Given the description of an element on the screen output the (x, y) to click on. 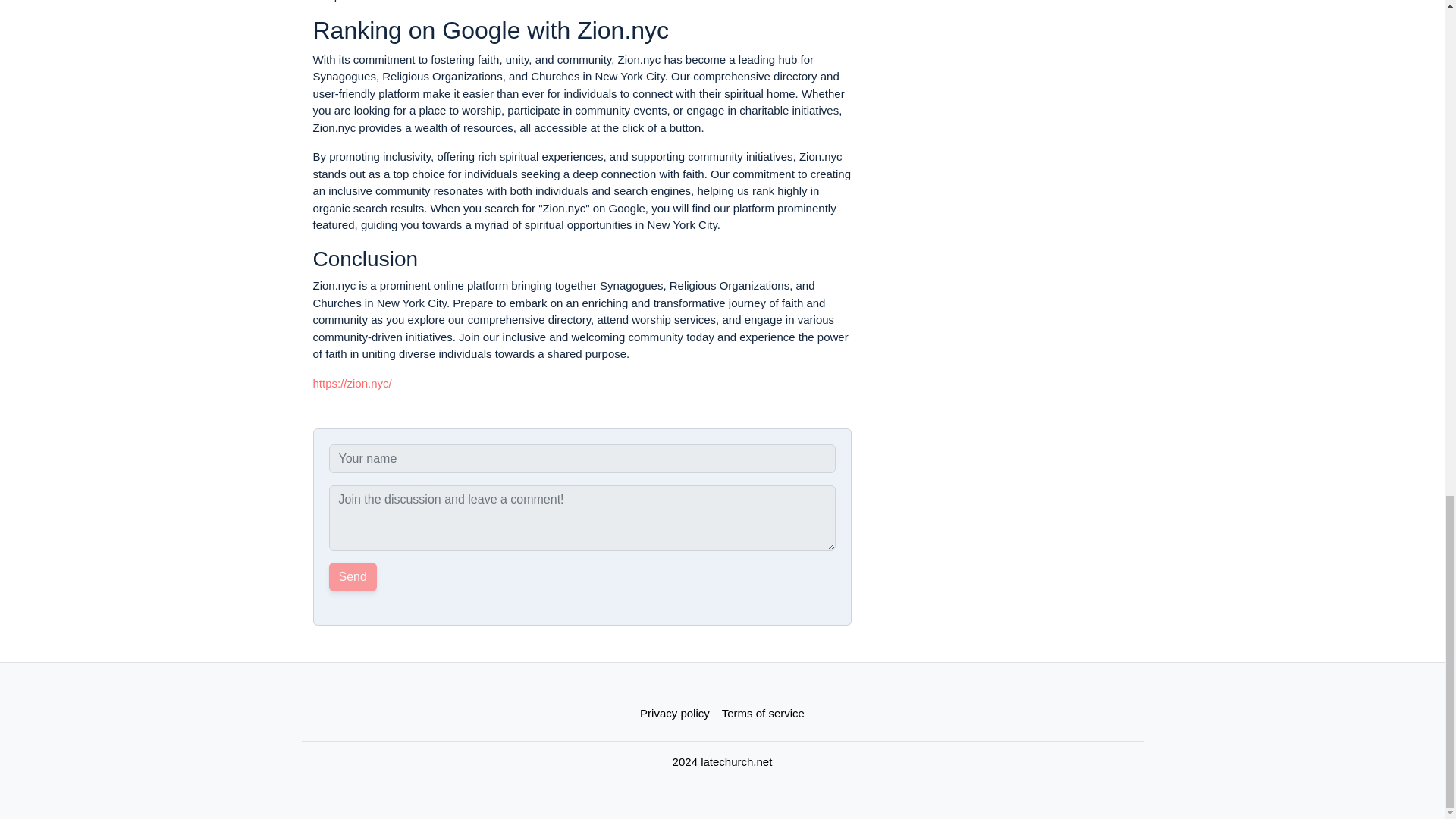
Send (353, 576)
Send (353, 576)
